Given the description of an element on the screen output the (x, y) to click on. 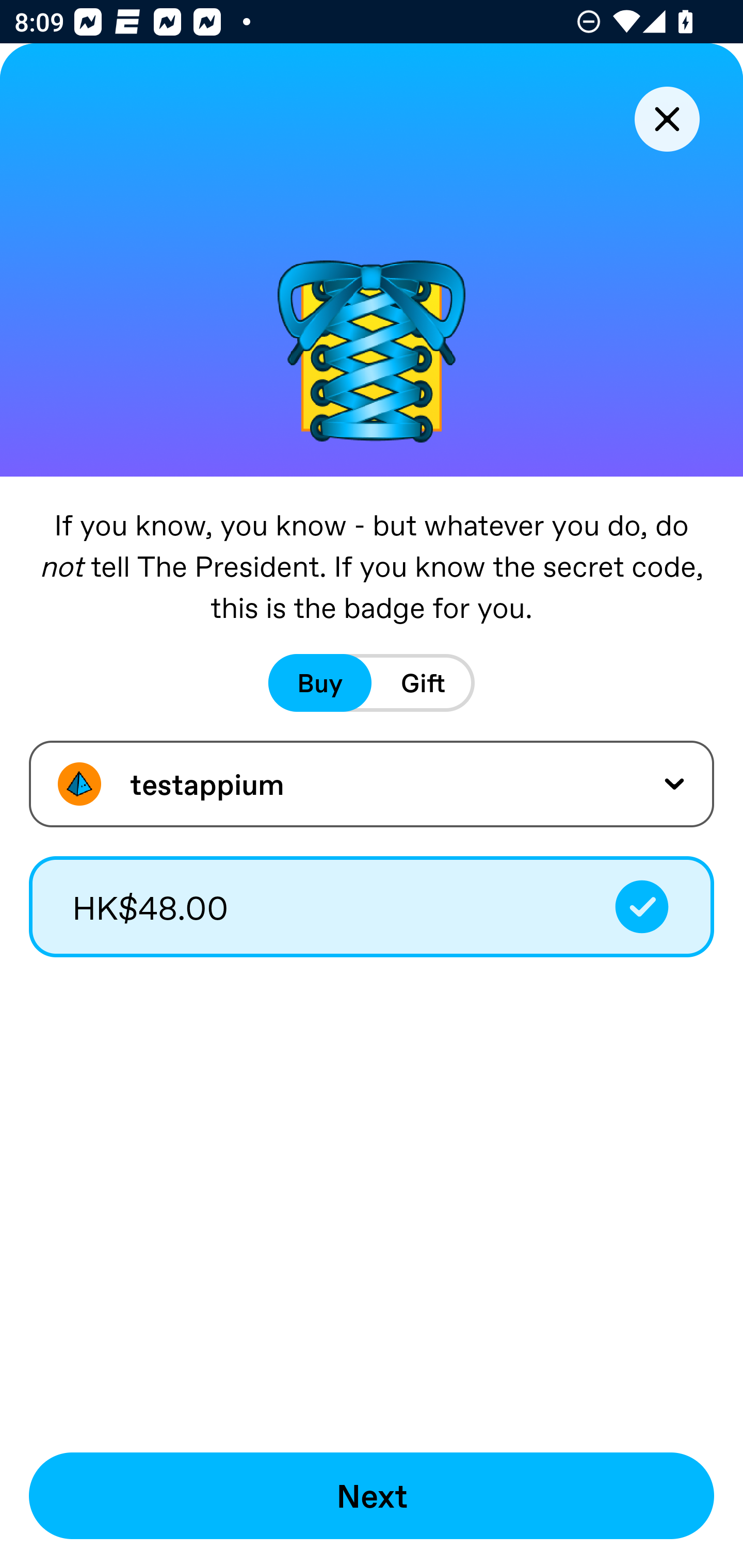
Buy (319, 682)
Gift (423, 682)
testappium (371, 783)
Next (371, 1495)
